Given the description of an element on the screen output the (x, y) to click on. 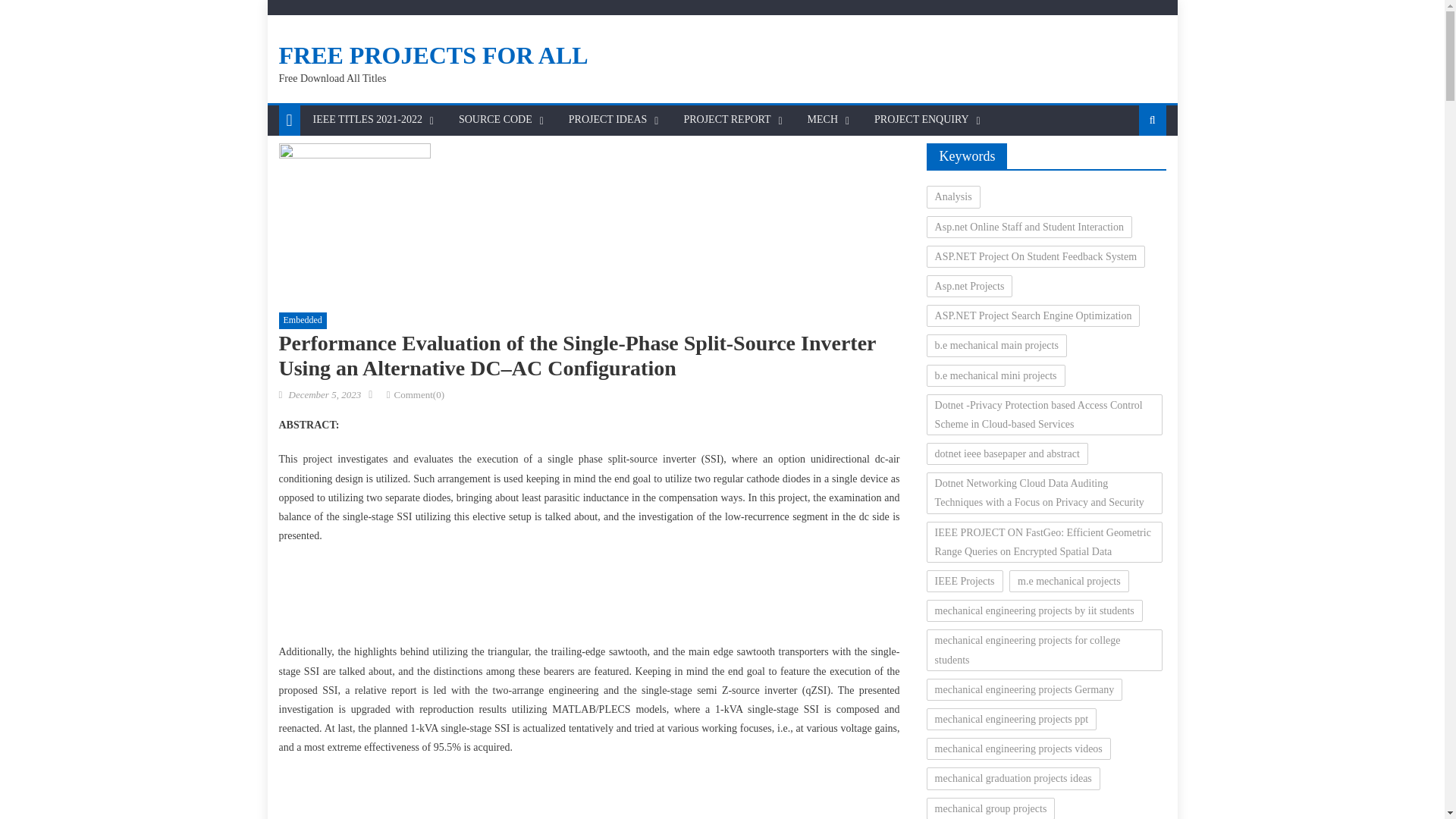
Advertisement (588, 598)
PROJECT IDEAS (608, 119)
Advertisement (589, 796)
PROJECT REPORT (726, 119)
IEEE TITLES 2021-2022 (367, 119)
SOURCE CODE (494, 119)
FREE PROJECTS FOR ALL (433, 54)
